Given the description of an element on the screen output the (x, y) to click on. 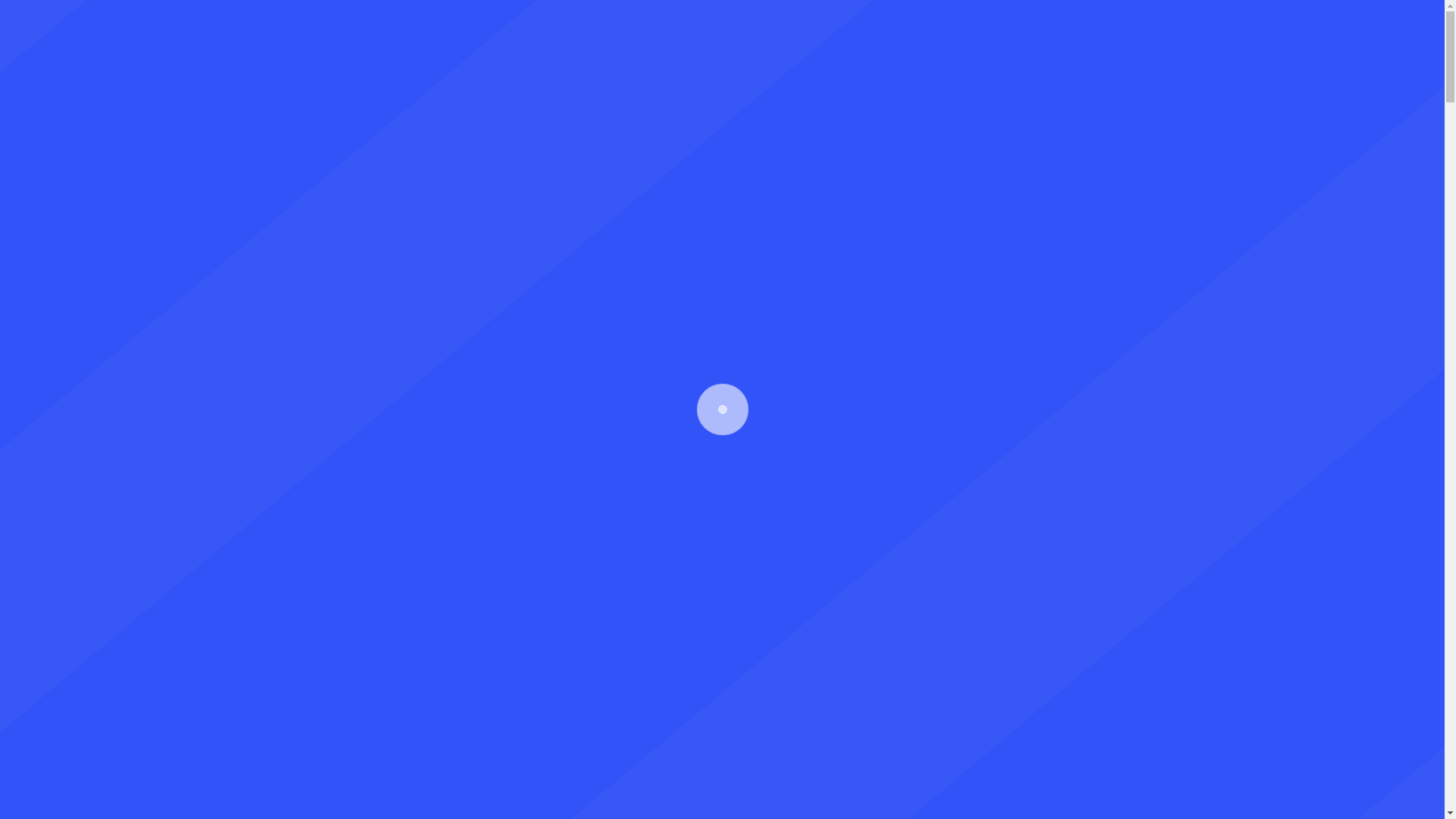
Free Consulting (1252, 72)
Projects (950, 72)
Custom Home Build (583, 72)
Roofing (805, 72)
About (470, 72)
Remodeling (713, 72)
